Given the description of an element on the screen output the (x, y) to click on. 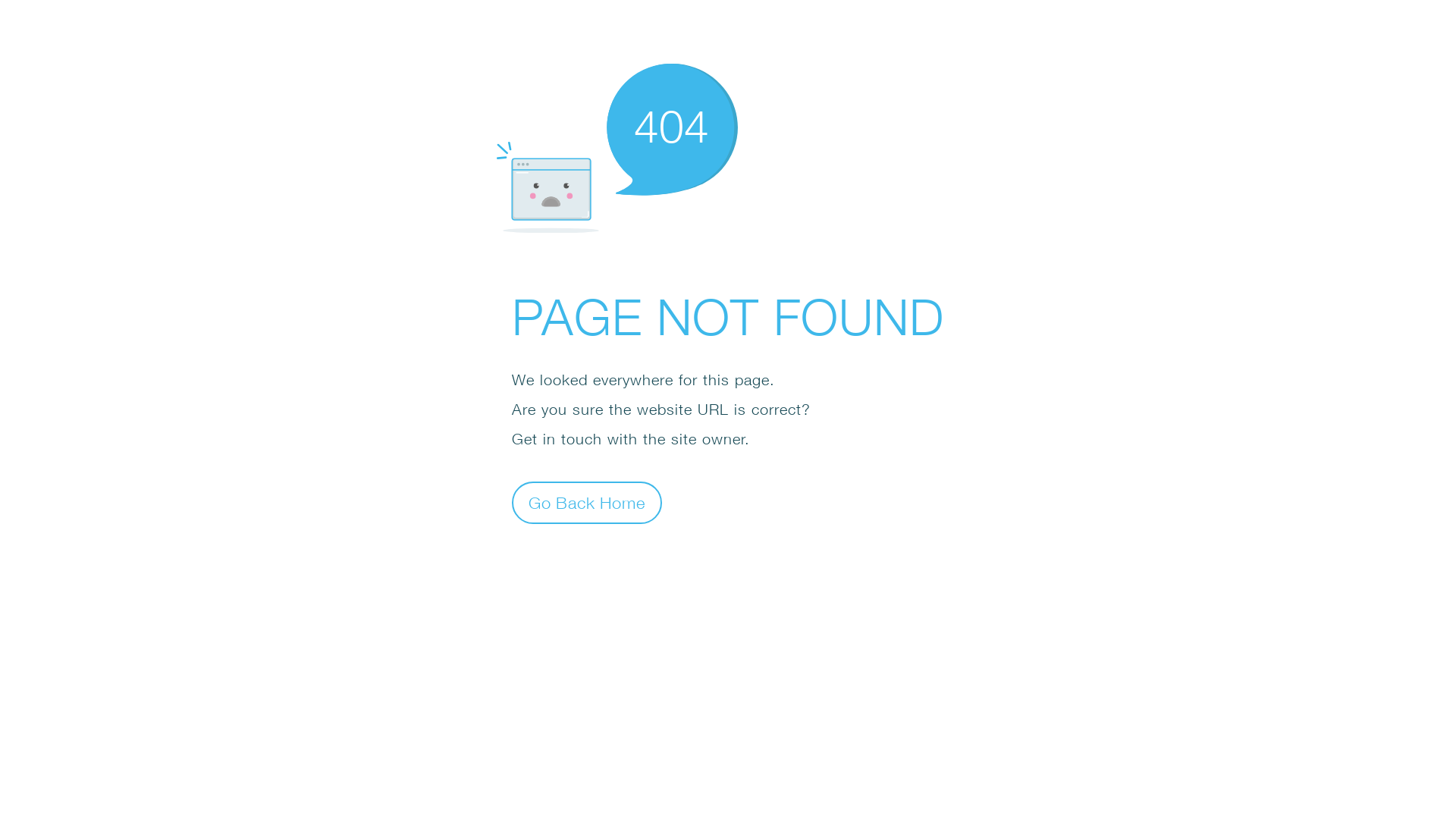
Go Back Home Element type: text (586, 502)
